Given the description of an element on the screen output the (x, y) to click on. 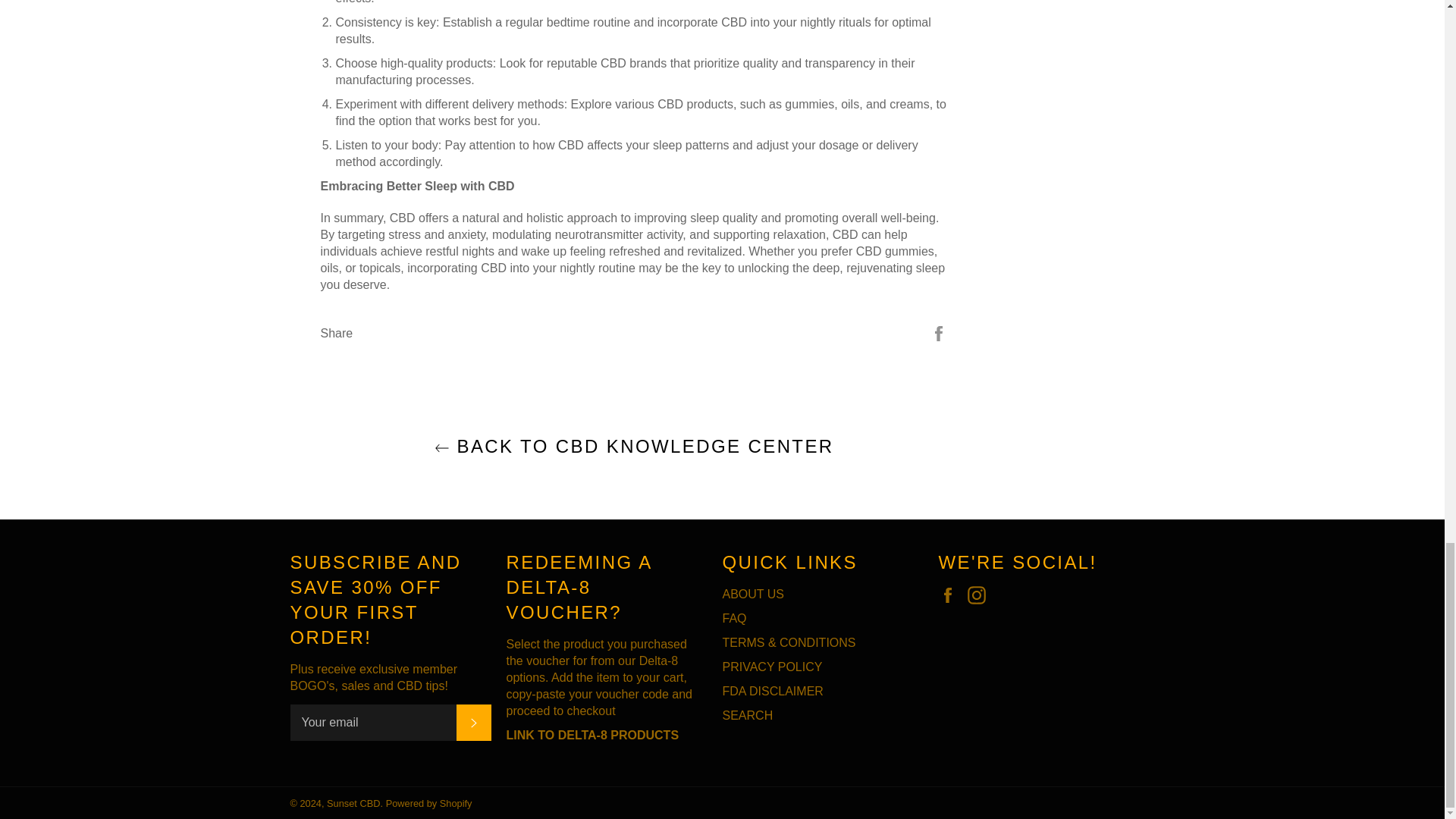
DELTA-8 (592, 735)
Sunset CBD on Instagram (980, 595)
Sunset CBD on Facebook (951, 595)
Share on Facebook (938, 332)
